Given the description of an element on the screen output the (x, y) to click on. 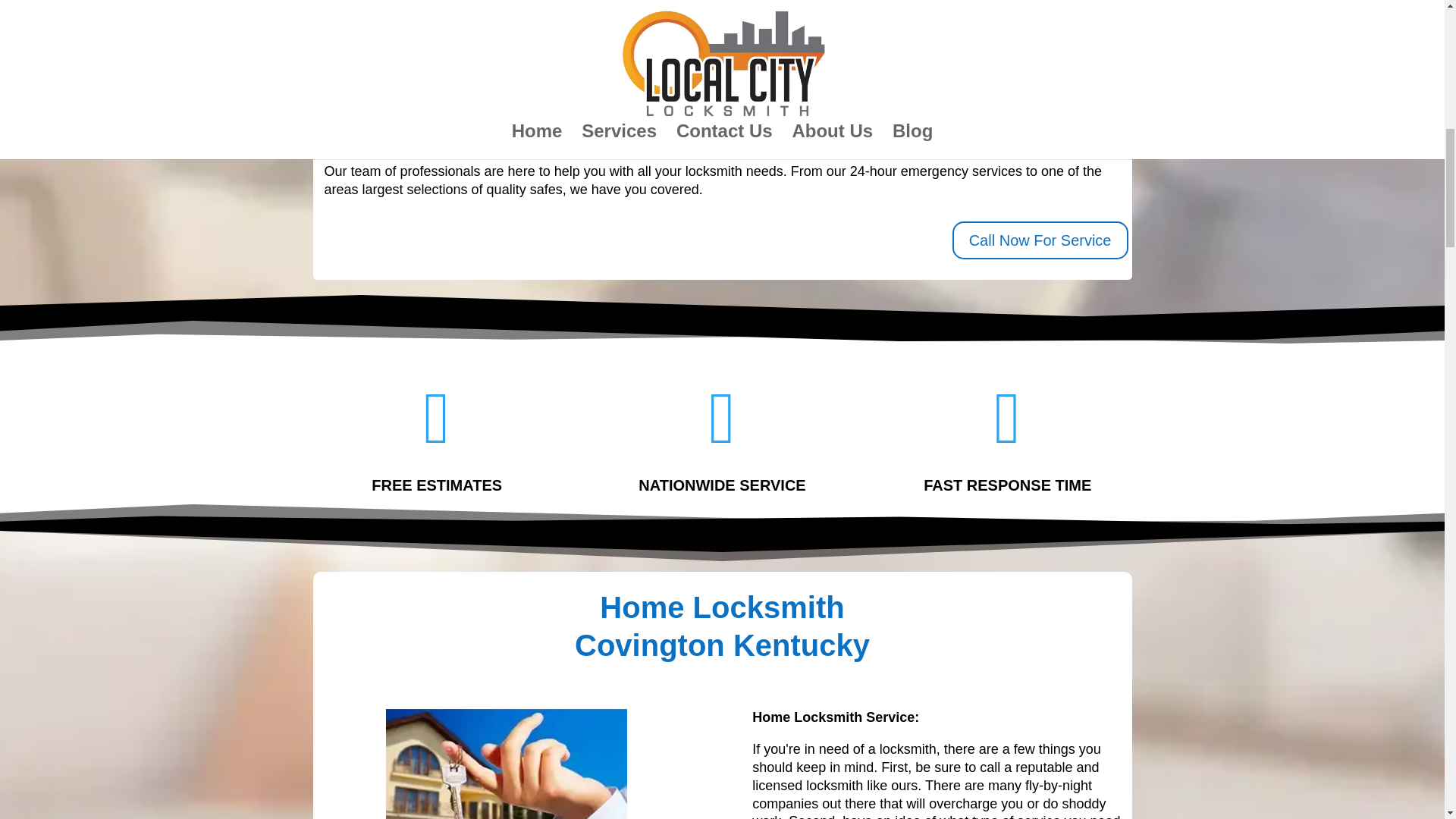
Call Now For Service (1040, 240)
